Given the description of an element on the screen output the (x, y) to click on. 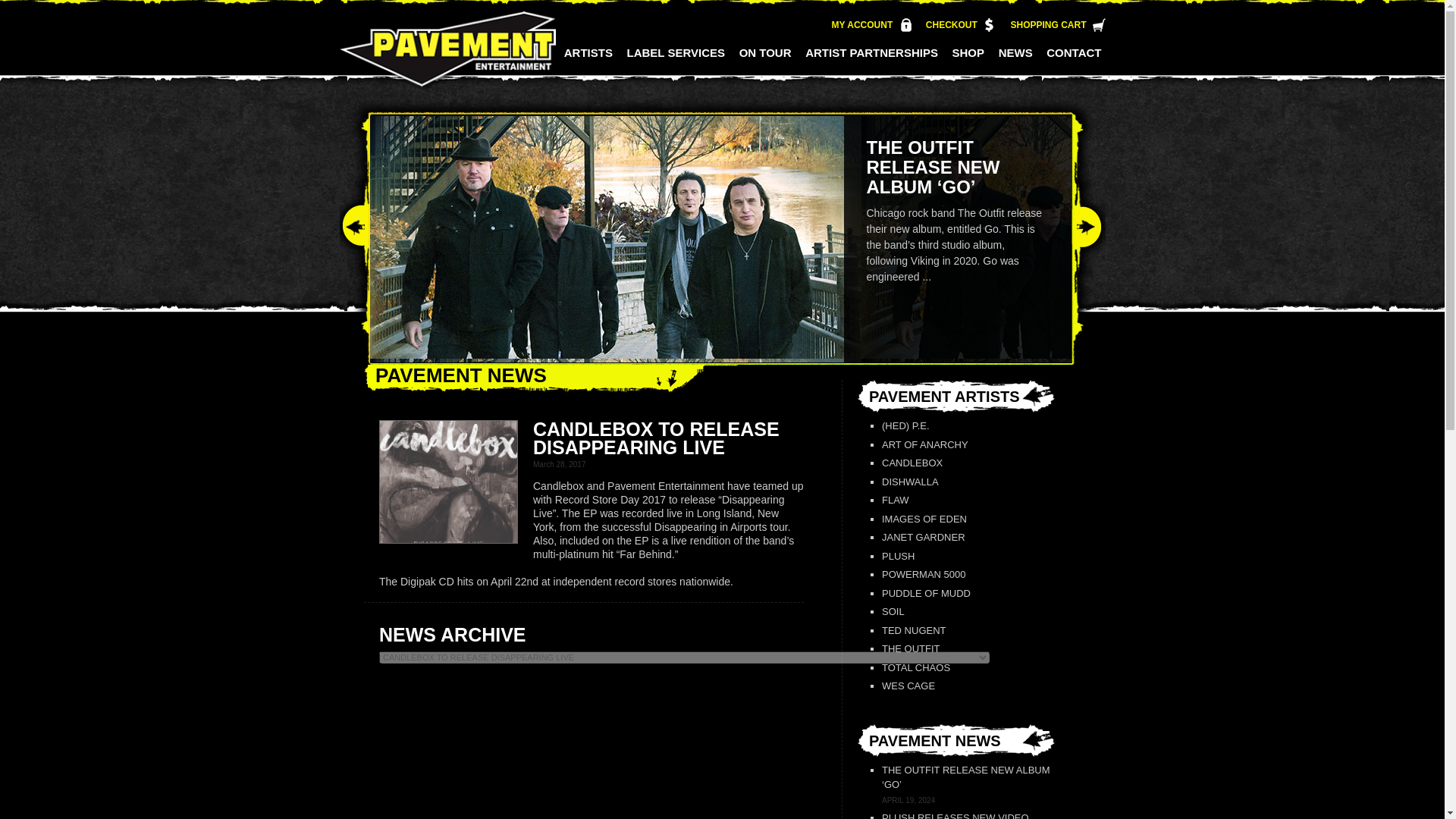
Dishwalla (968, 482)
ARTIST PARTNERSHIPS (869, 60)
CONTACT (1072, 60)
SHOPPING CART (1047, 24)
LABEL SERVICES (674, 60)
FLAW (968, 500)
CANDLEBOX TO RELEASE DISAPPEARING LIVE (448, 489)
IMAGES OF EDEN (968, 518)
CHECKOUT (951, 24)
Candlebox (968, 462)
Pavement Music (447, 59)
JANET GARDNER (968, 537)
NEWS (1013, 60)
DISHWALLA (968, 482)
CANDLEBOX (968, 462)
